Given the description of an element on the screen output the (x, y) to click on. 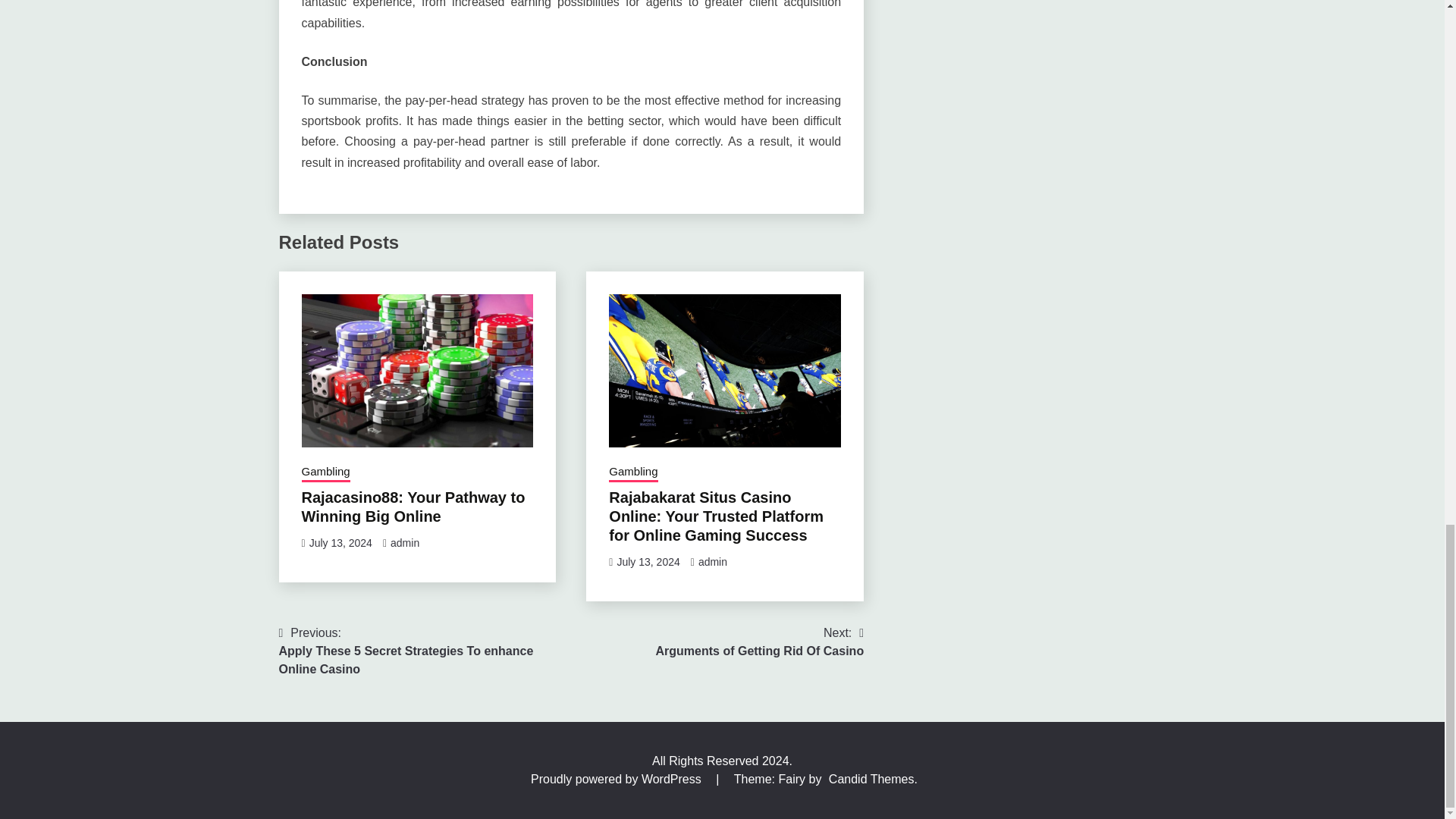
Gambling (759, 642)
Rajacasino88: Your Pathway to Winning Big Online (633, 472)
July 13, 2024 (413, 506)
admin (647, 562)
admin (712, 562)
July 13, 2024 (404, 542)
Gambling (340, 542)
